Given the description of an element on the screen output the (x, y) to click on. 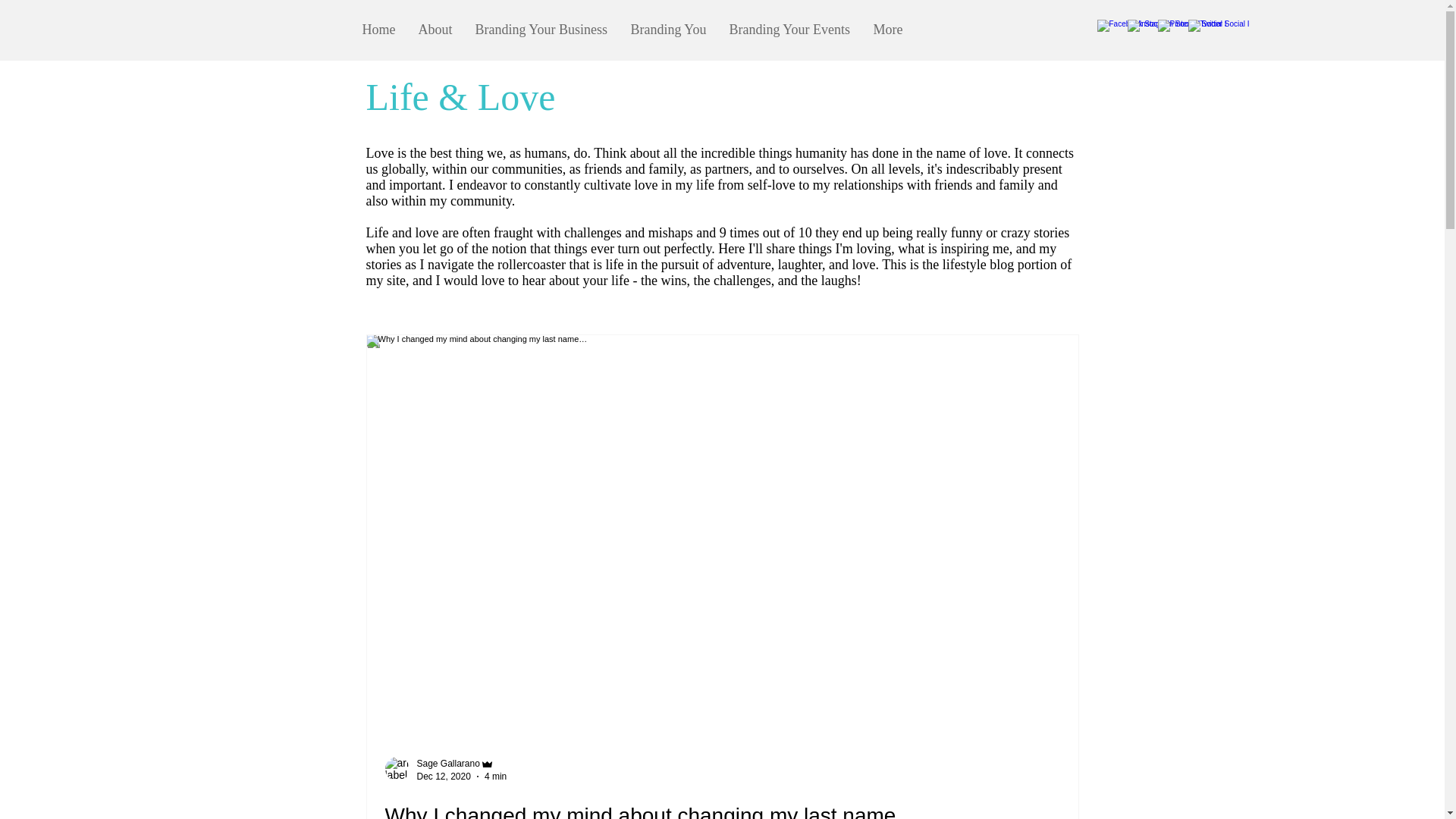
Branding Your Business (542, 29)
4 min (495, 775)
Sage Gallarano (448, 763)
About (434, 29)
Home (378, 29)
Branding You (667, 29)
Dec 12, 2020 (443, 775)
Sage Gallarano (461, 763)
Branding Your Events (789, 29)
